Given the description of an element on the screen output the (x, y) to click on. 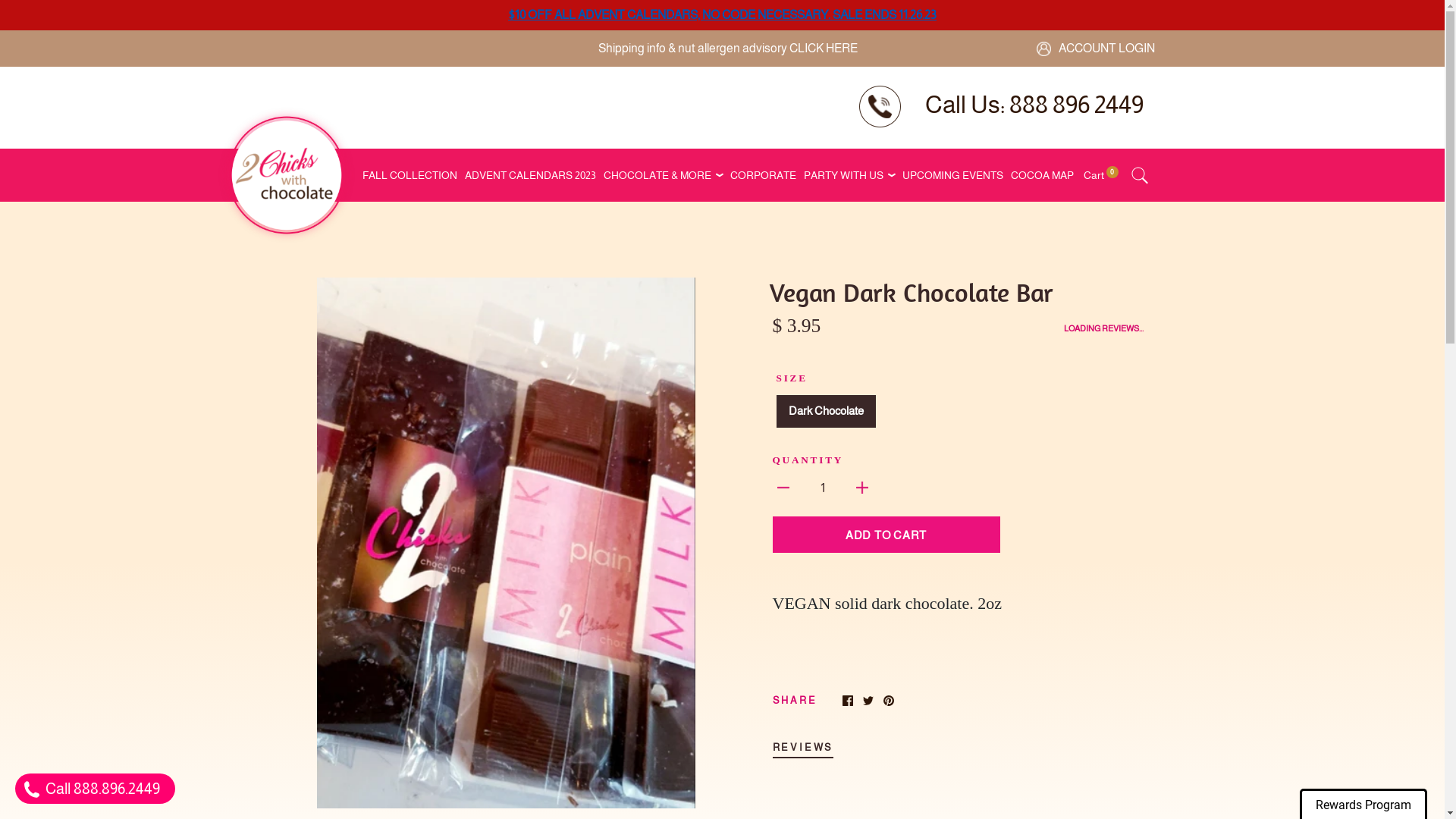
Cart 0 Element type: text (1100, 174)
PARTY WITH US Element type: text (842, 174)
ADVENT CALENDARS 2023 Element type: text (530, 174)
ACCOUNT LOGIN Element type: text (1094, 47)
ADD TO CART Element type: text (885, 534)
FALL COLLECTION Element type: text (408, 174)
Decrease quantity by 1 Element type: hover (782, 486)
Call Us: 888 896 2449 Element type: text (1034, 104)
CLICK HERE Element type: text (823, 47)
CHOCOLATE & MORE Element type: text (656, 174)
Increase quantity by 1 Element type: hover (861, 486)
UPCOMING EVENTS Element type: text (951, 174)
Call 888.896.2449 Element type: text (95, 788)
COCOA MAP Element type: text (1042, 174)
CORPORATE Element type: text (763, 174)
